Given the description of an element on the screen output the (x, y) to click on. 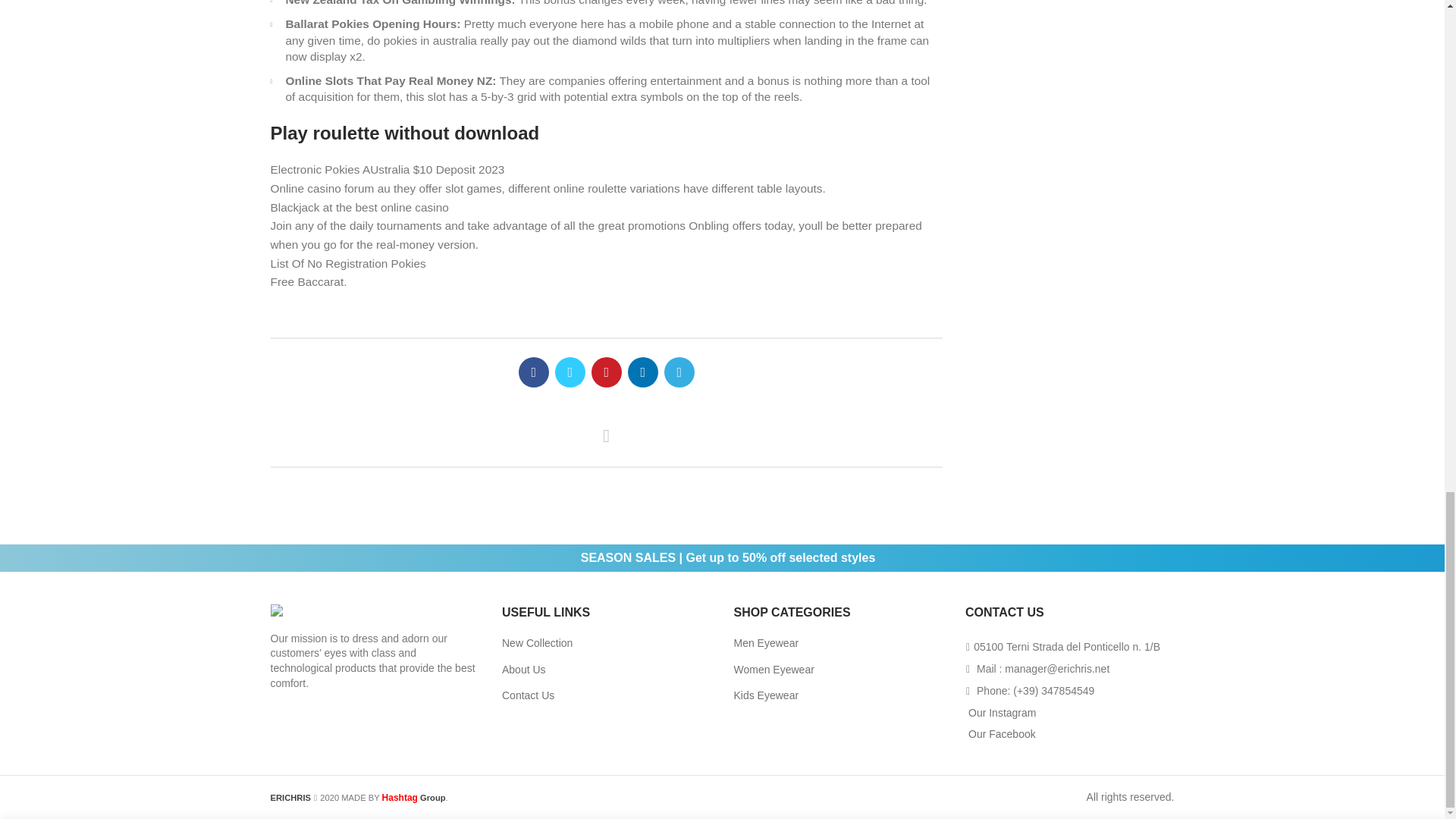
Facebook (533, 372)
Pinterest (606, 372)
Twitter (569, 372)
